Given the description of an element on the screen output the (x, y) to click on. 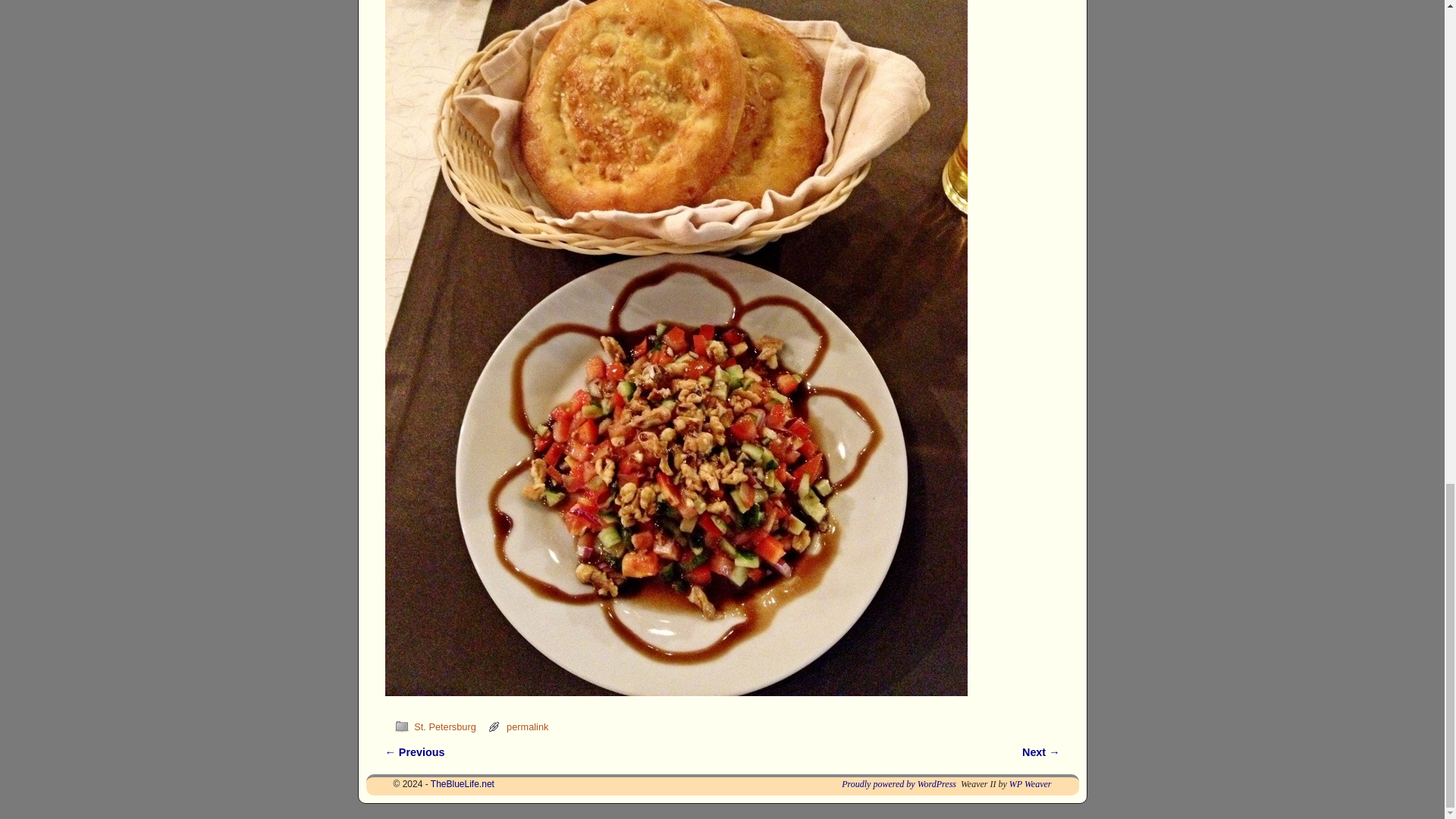
St. Petersburg (444, 726)
TheBlueLife.net (462, 783)
TheBlueLife.net (462, 783)
Permalink to Observational Ditties (527, 726)
Proudly powered by WordPress (898, 783)
wordpress.org (898, 783)
WP Weaver (1030, 783)
permalink (527, 726)
